Given the description of an element on the screen output the (x, y) to click on. 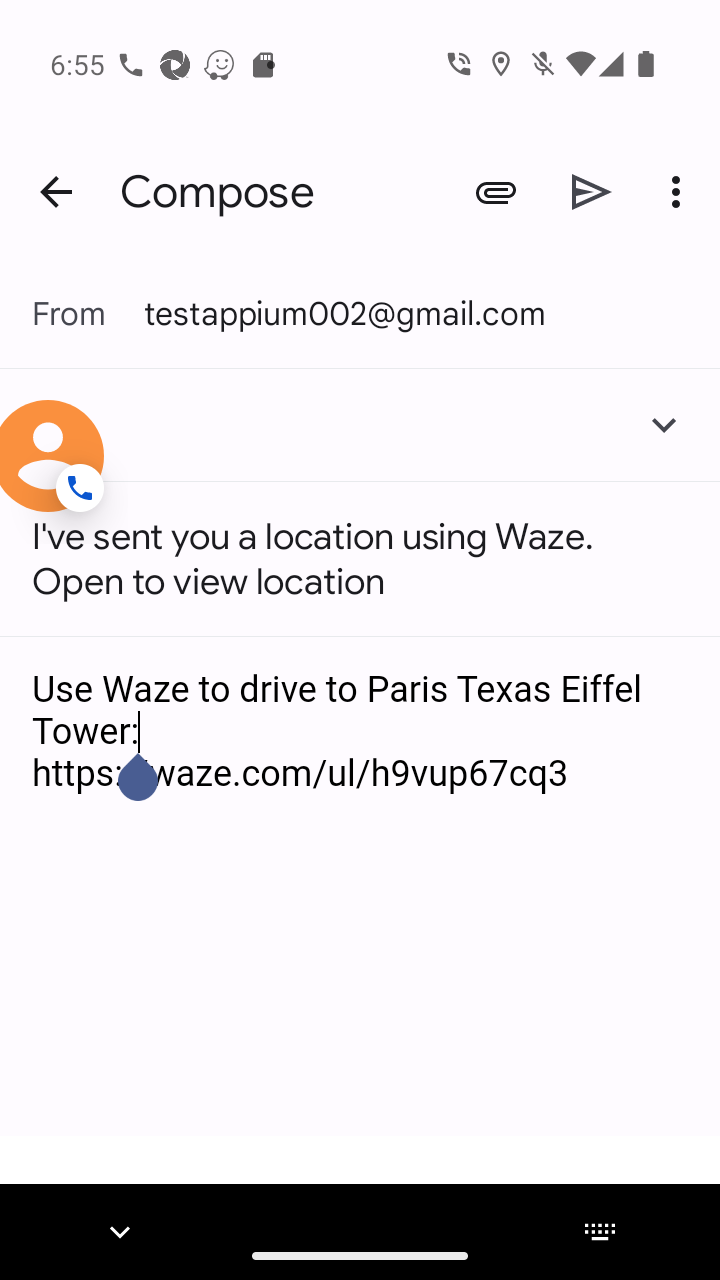
Navigate up (56, 191)
Attach file (495, 191)
Send (592, 191)
More options (680, 191)
From (87, 312)
Add Cc/Bcc (663, 424)
